Given the description of an element on the screen output the (x, y) to click on. 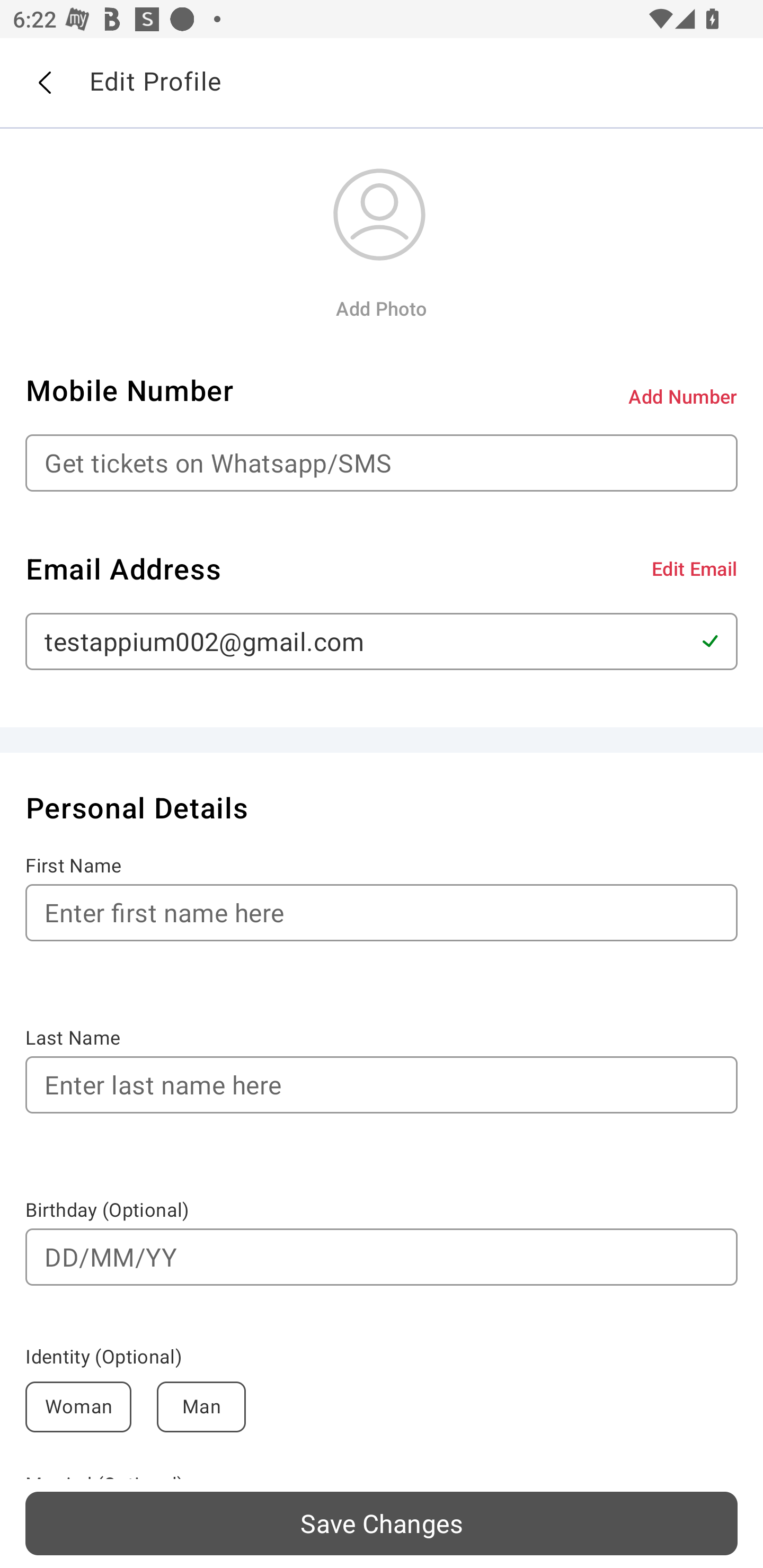
Back Edit Profile (381, 82)
Back (44, 82)
Add Photo (380, 307)
Add Number (682, 395)
Get tickets on Whatsapp/SMS (381, 463)
Edit Email (694, 568)
testappium002@gmail.com (381, 641)
Enter first name here (381, 912)
Enter last name here (381, 1084)
DD/MM/YY (381, 1256)
Woman (78, 1407)
Man (201, 1407)
Save Changes (381, 1523)
